Given the description of an element on the screen output the (x, y) to click on. 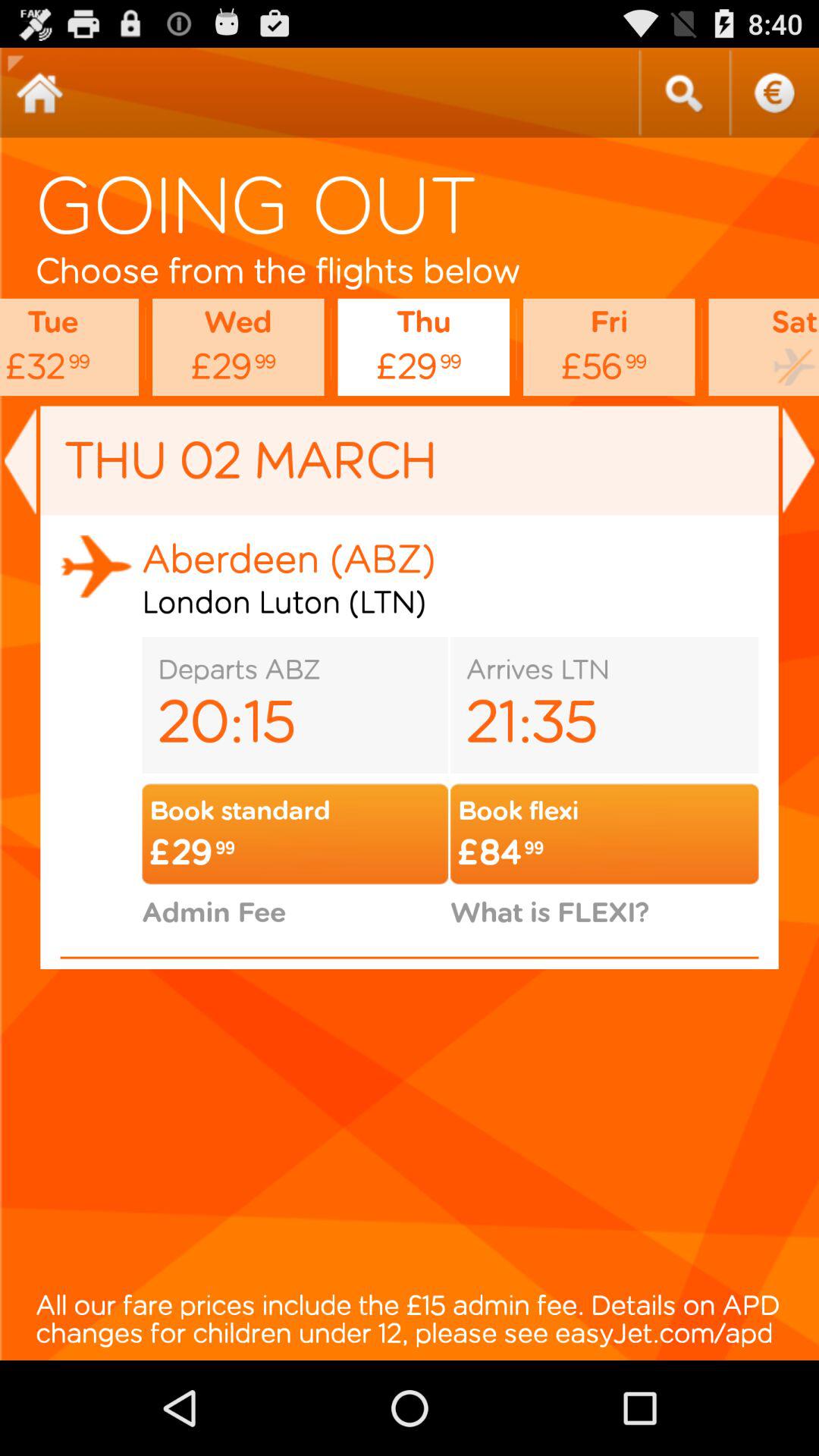
go home (39, 92)
